Given the description of an element on the screen output the (x, y) to click on. 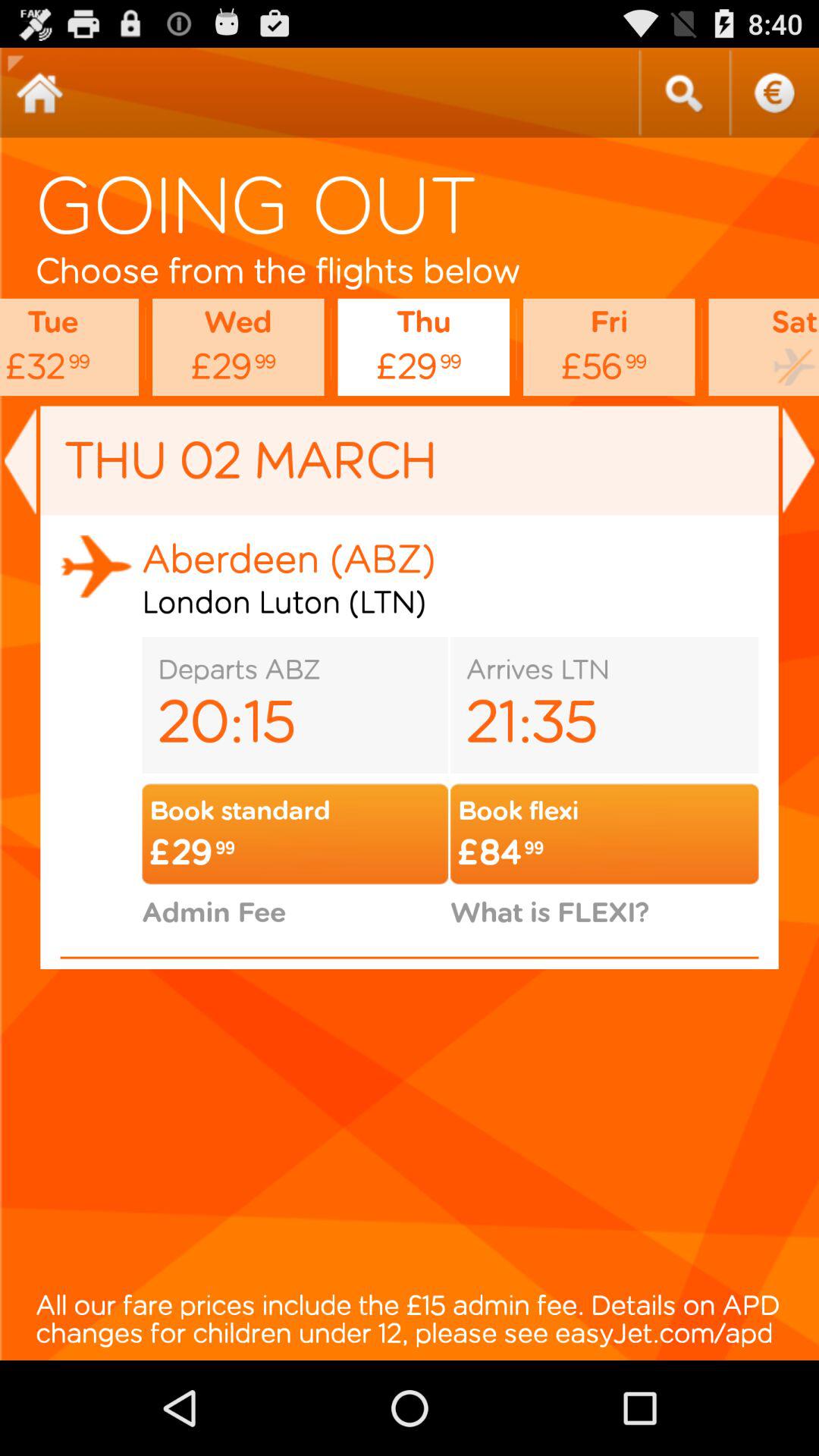
go home (39, 92)
